Given the description of an element on the screen output the (x, y) to click on. 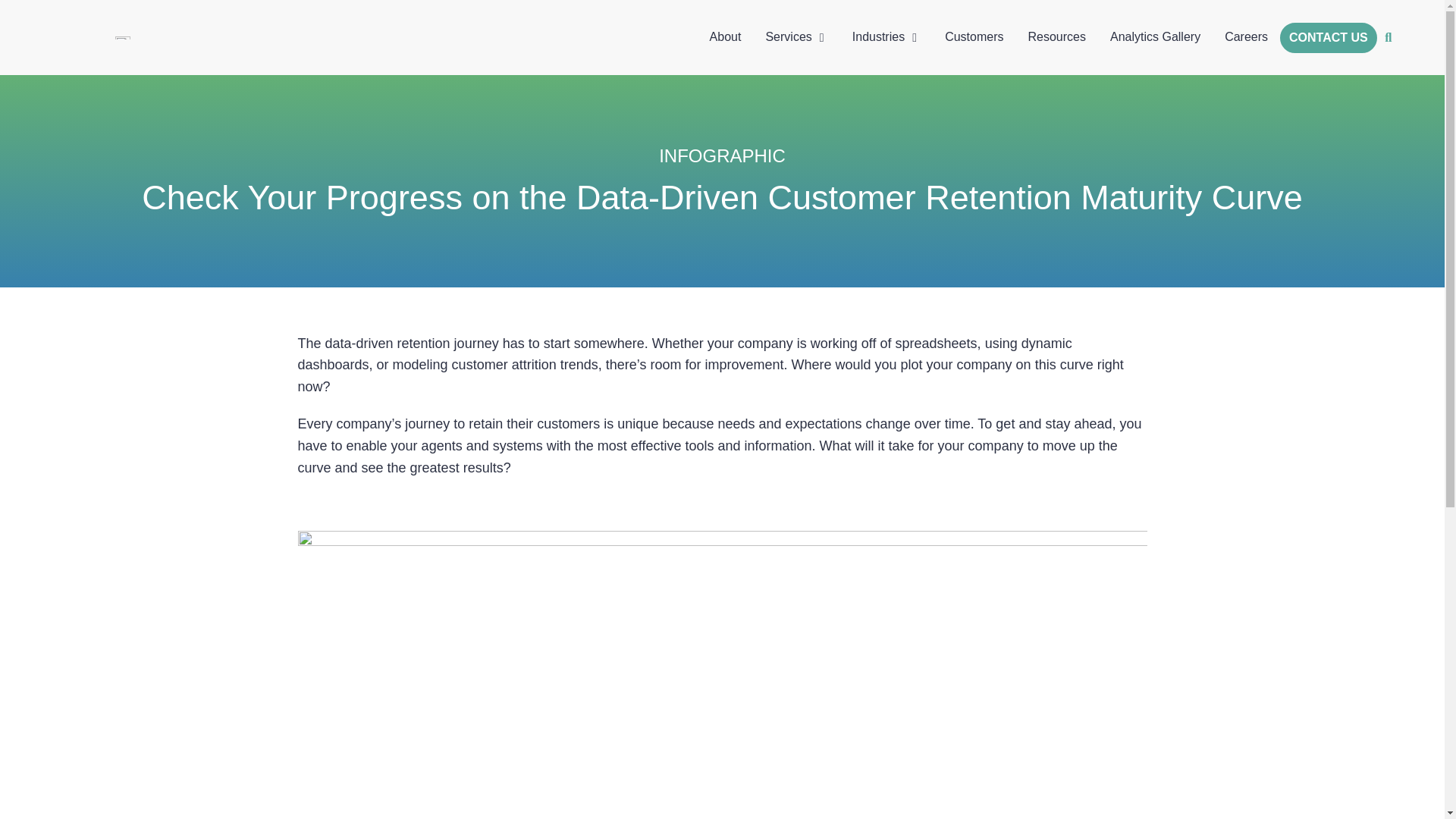
About (725, 37)
Services (787, 37)
